Given the description of an element on the screen output the (x, y) to click on. 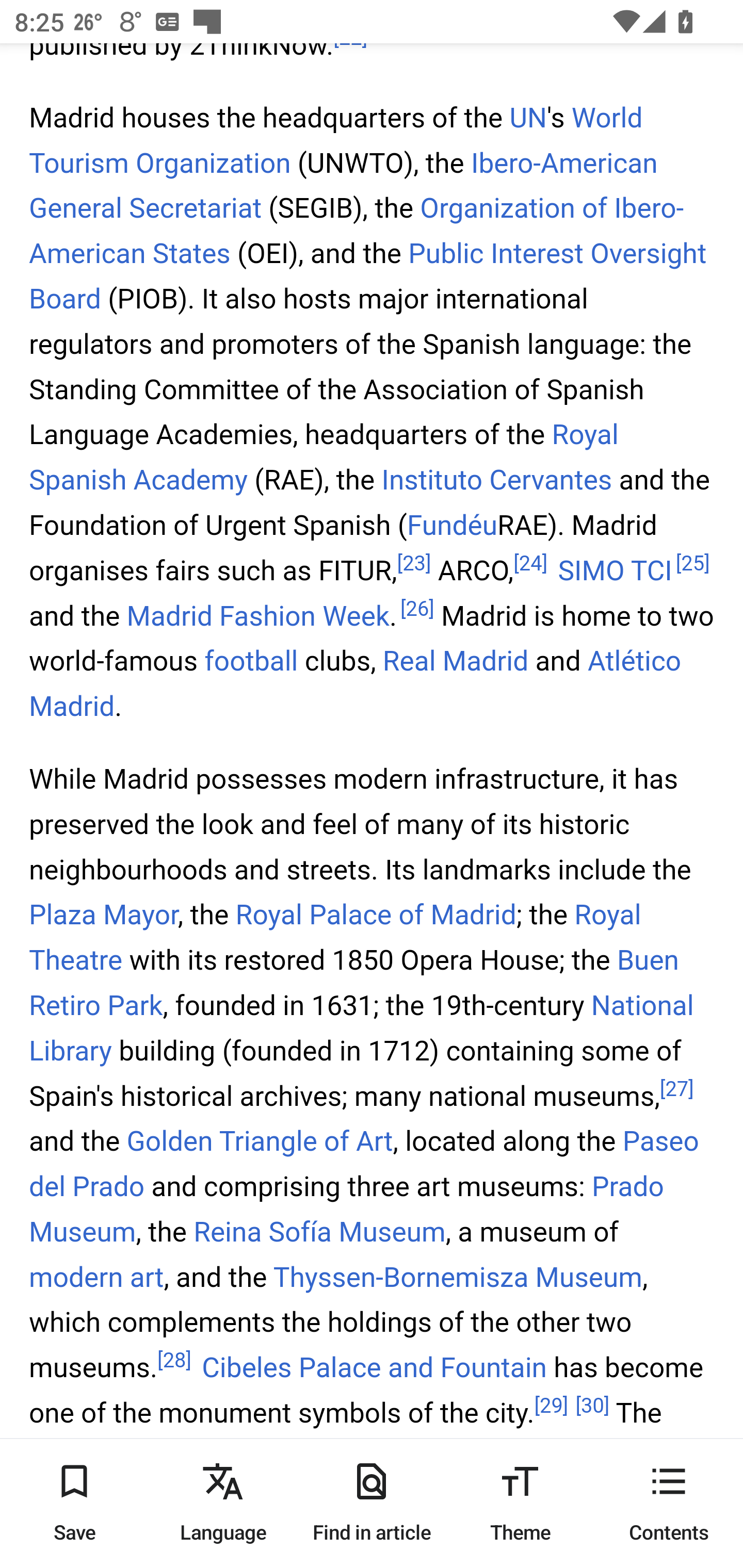
World Tourism Organization (336, 140)
UN (527, 117)
Ibero-American General Secretariat (343, 186)
Organization of Ibero-American States (356, 232)
Public Interest Oversight Board (368, 278)
Royal Spanish Academy (323, 458)
Instituto Cervantes (496, 481)
Fundéu (452, 525)
[] [ 23 ] (413, 563)
[] [ 24 ] (530, 563)
[] [ 25 ] (693, 563)
SIMO TCI (614, 570)
[] [ 26 ] (416, 608)
Madrid Fashion Week (258, 615)
Atlético Madrid (355, 684)
football (251, 661)
Real Madrid (454, 661)
Plaza Mayor (103, 915)
Royal Theatre (335, 938)
Royal Palace of Madrid (375, 915)
Buen Retiro Park (354, 983)
National Library (361, 1029)
[] [ 27 ] (676, 1088)
Paseo del Prado (364, 1164)
Golden Triangle of Art (259, 1141)
Prado Museum (346, 1210)
Reina Sofía Museum (319, 1232)
modern art (96, 1277)
Thyssen-Bornemisza Museum (457, 1277)
[] [ 28 ] (174, 1360)
Cibeles Palace and Fountain (372, 1368)
[] [ 29 ] (550, 1406)
[] [ 30 ] (592, 1406)
Save (74, 1502)
Language (222, 1502)
Find in article (371, 1502)
Theme (519, 1502)
Contents (668, 1502)
